Given the description of an element on the screen output the (x, y) to click on. 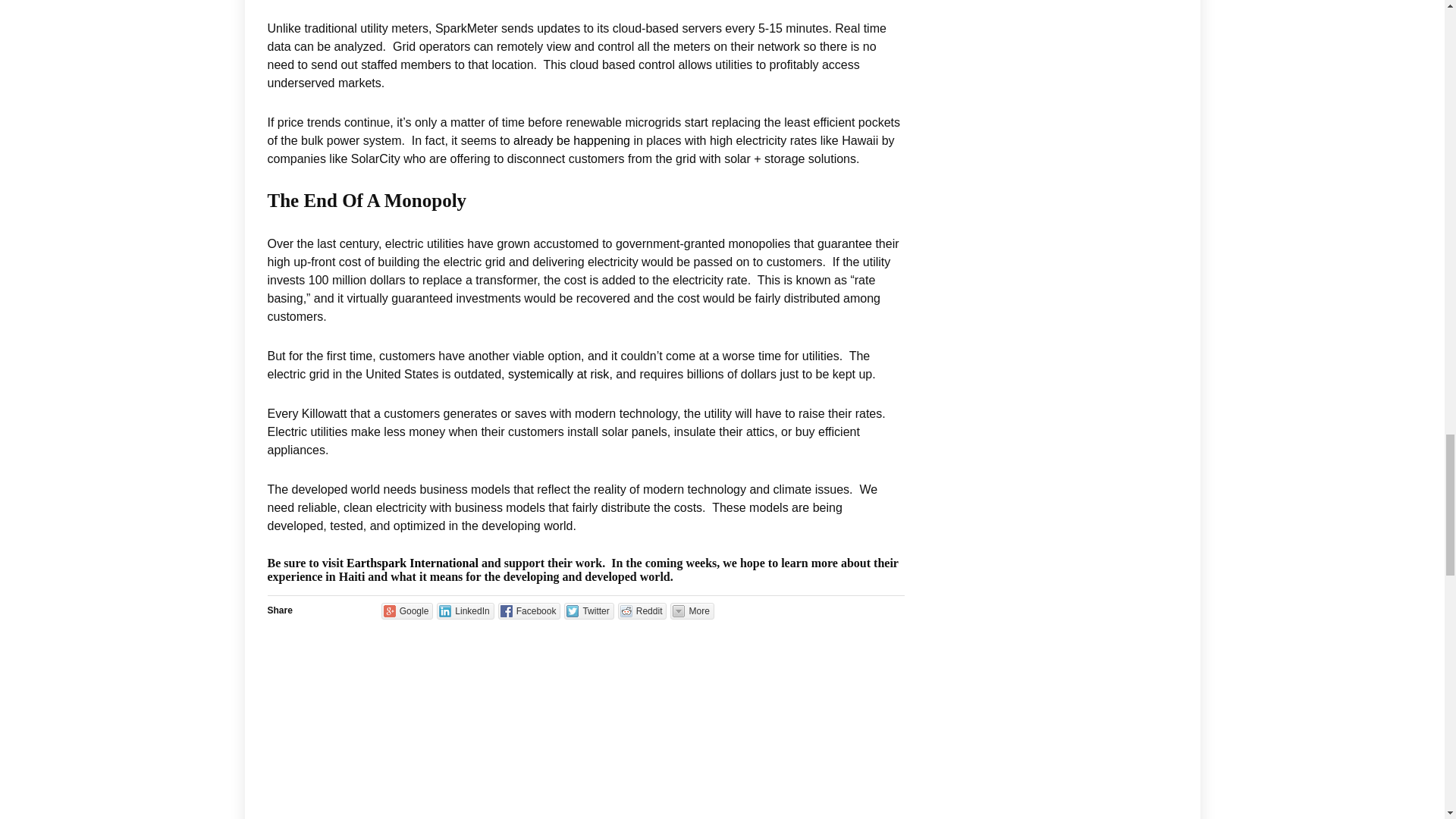
LinkedIn (464, 610)
More (691, 610)
Earthspark International (412, 562)
already be happening (571, 140)
Twitter (588, 610)
systemically at risk (558, 373)
Google (407, 610)
Reddit (641, 610)
Click to share on LinkedIn (464, 610)
Facebook (528, 610)
